Given the description of an element on the screen output the (x, y) to click on. 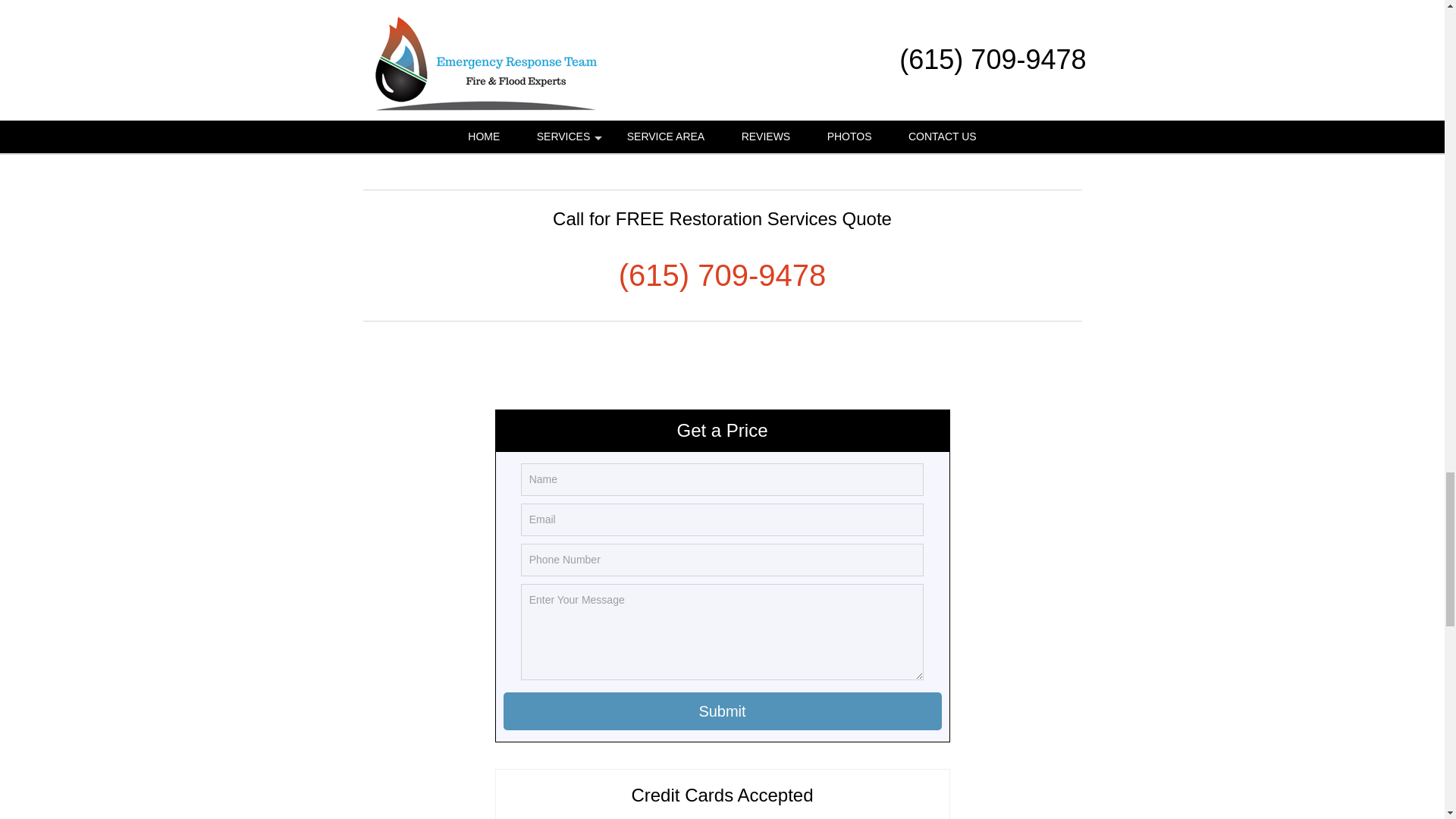
Submit (722, 711)
View all testimonials (722, 119)
